Given the description of an element on the screen output the (x, y) to click on. 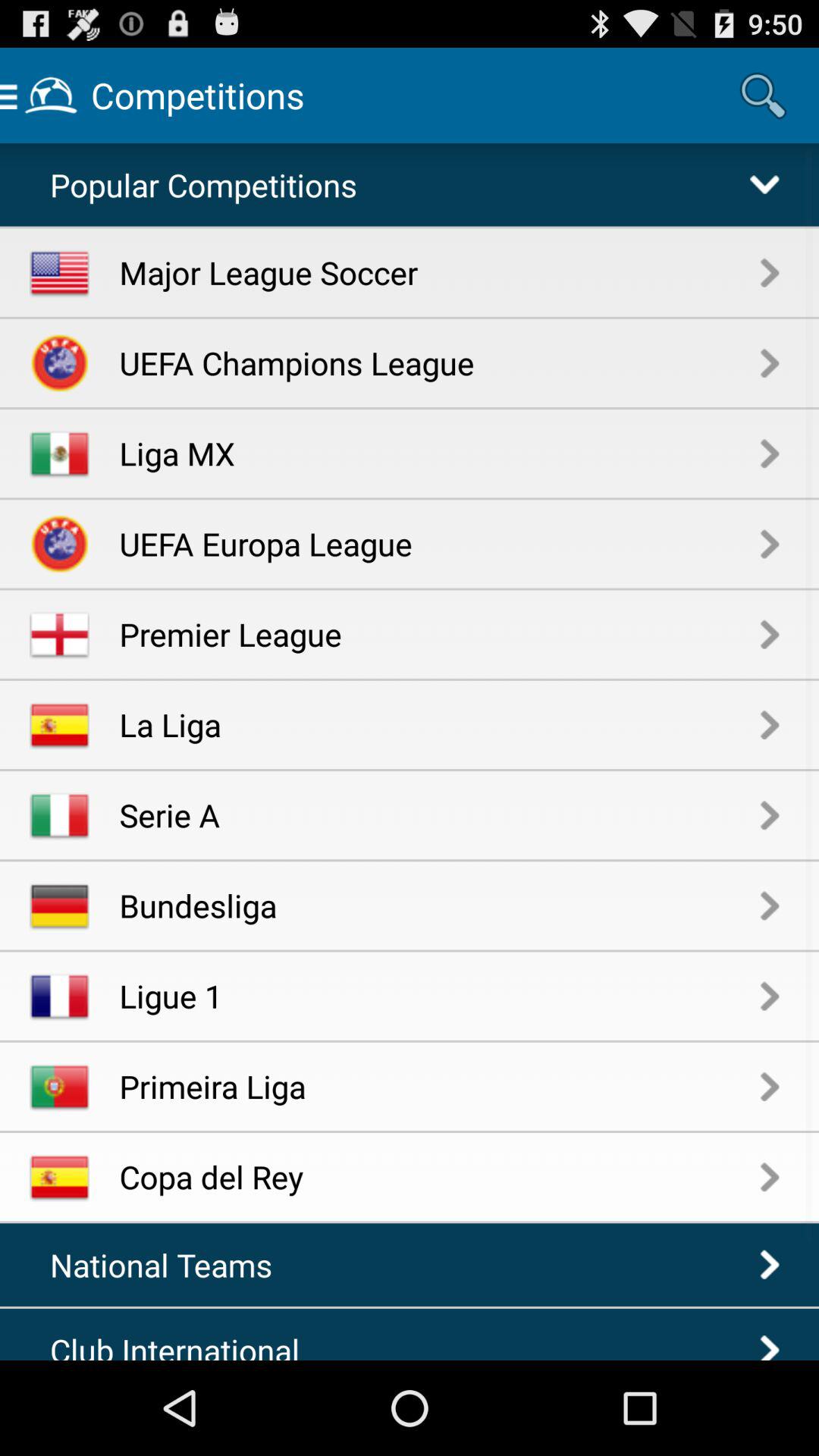
open major league soccer icon (439, 272)
